Given the description of an element on the screen output the (x, y) to click on. 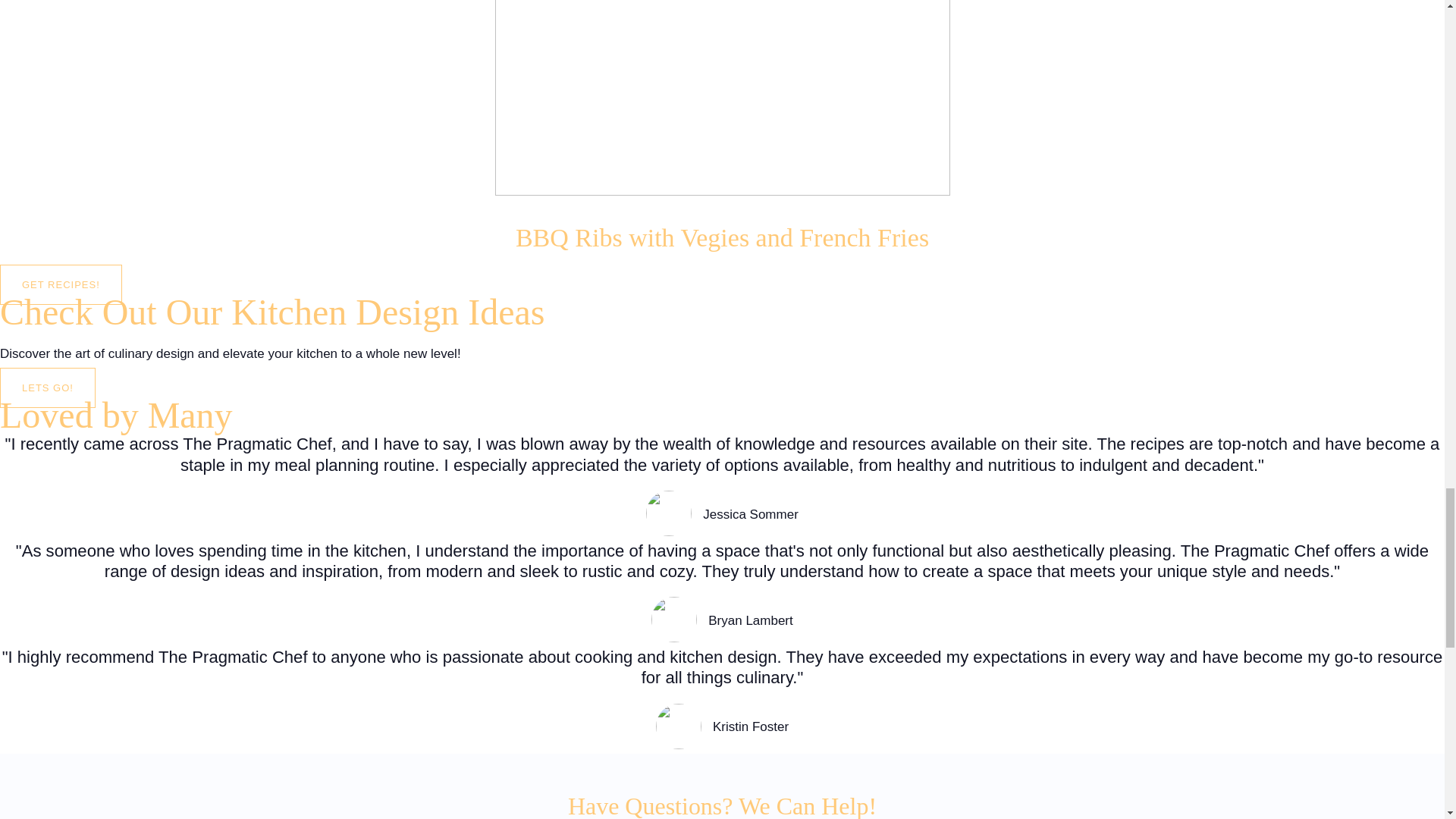
GET RECIPES! (61, 284)
LETS GO! (48, 387)
